Given the description of an element on the screen output the (x, y) to click on. 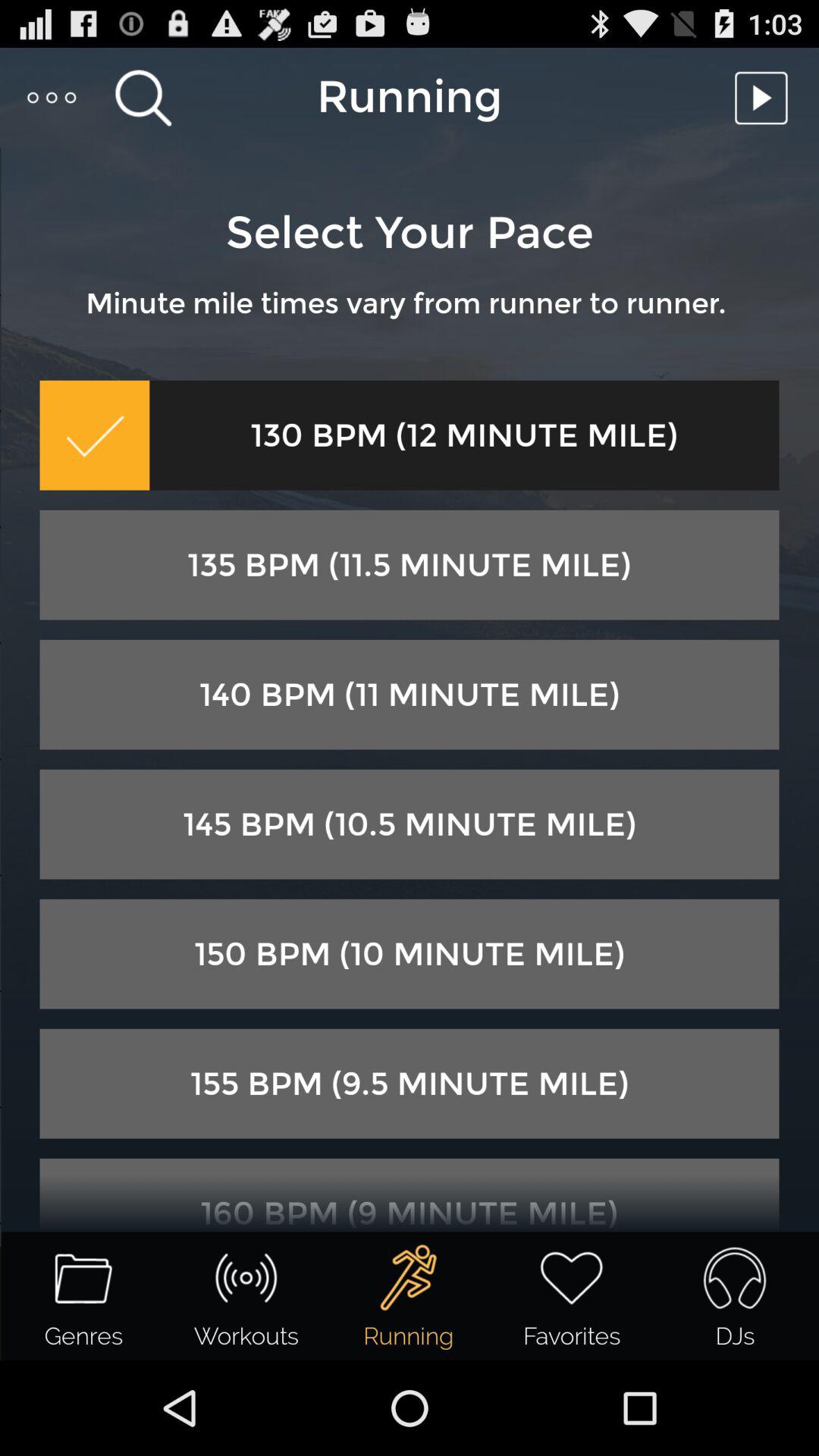
choose the item below minute mile times (94, 435)
